Given the description of an element on the screen output the (x, y) to click on. 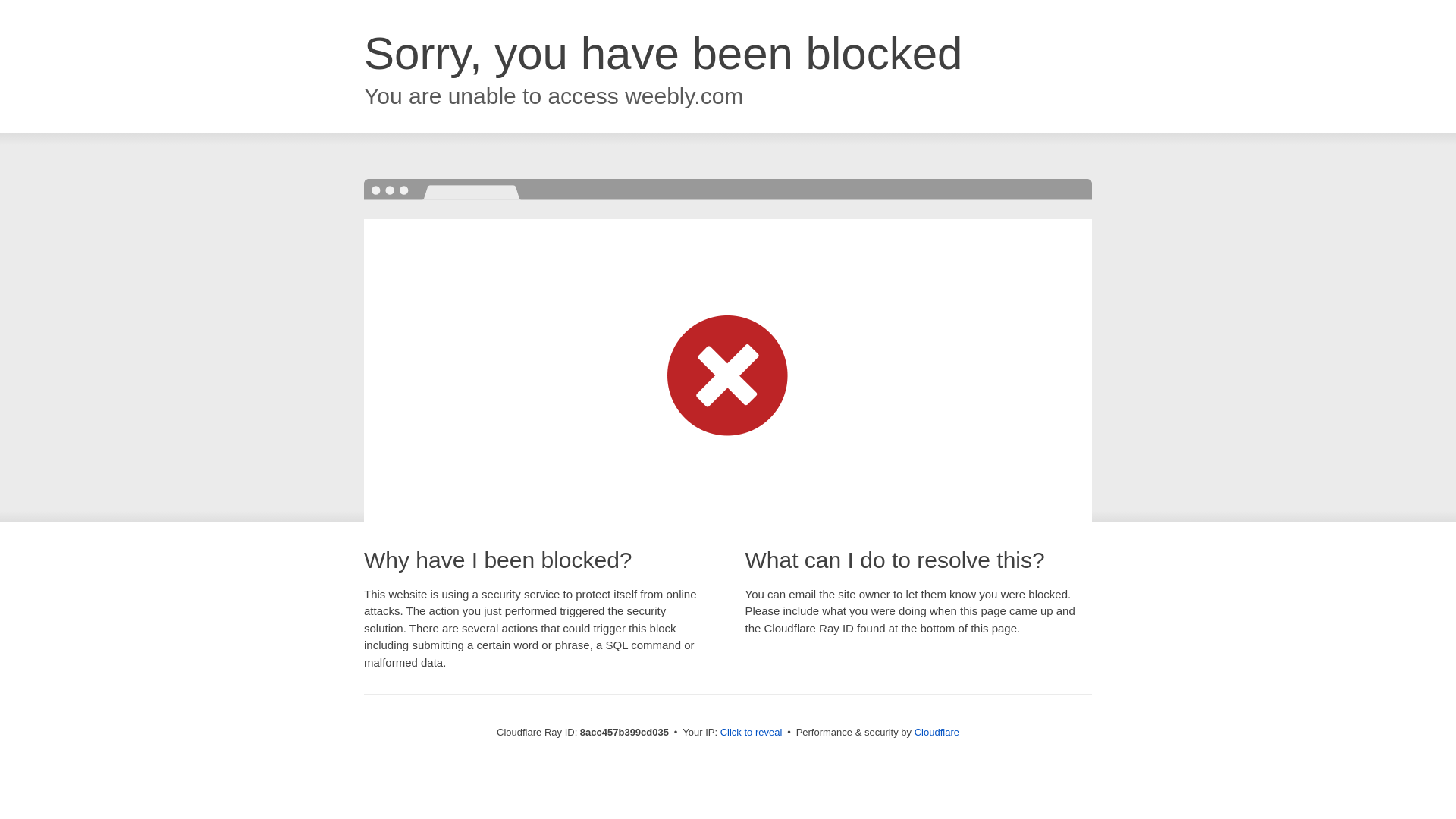
Click to reveal (751, 732)
Cloudflare (936, 731)
